Given the description of an element on the screen output the (x, y) to click on. 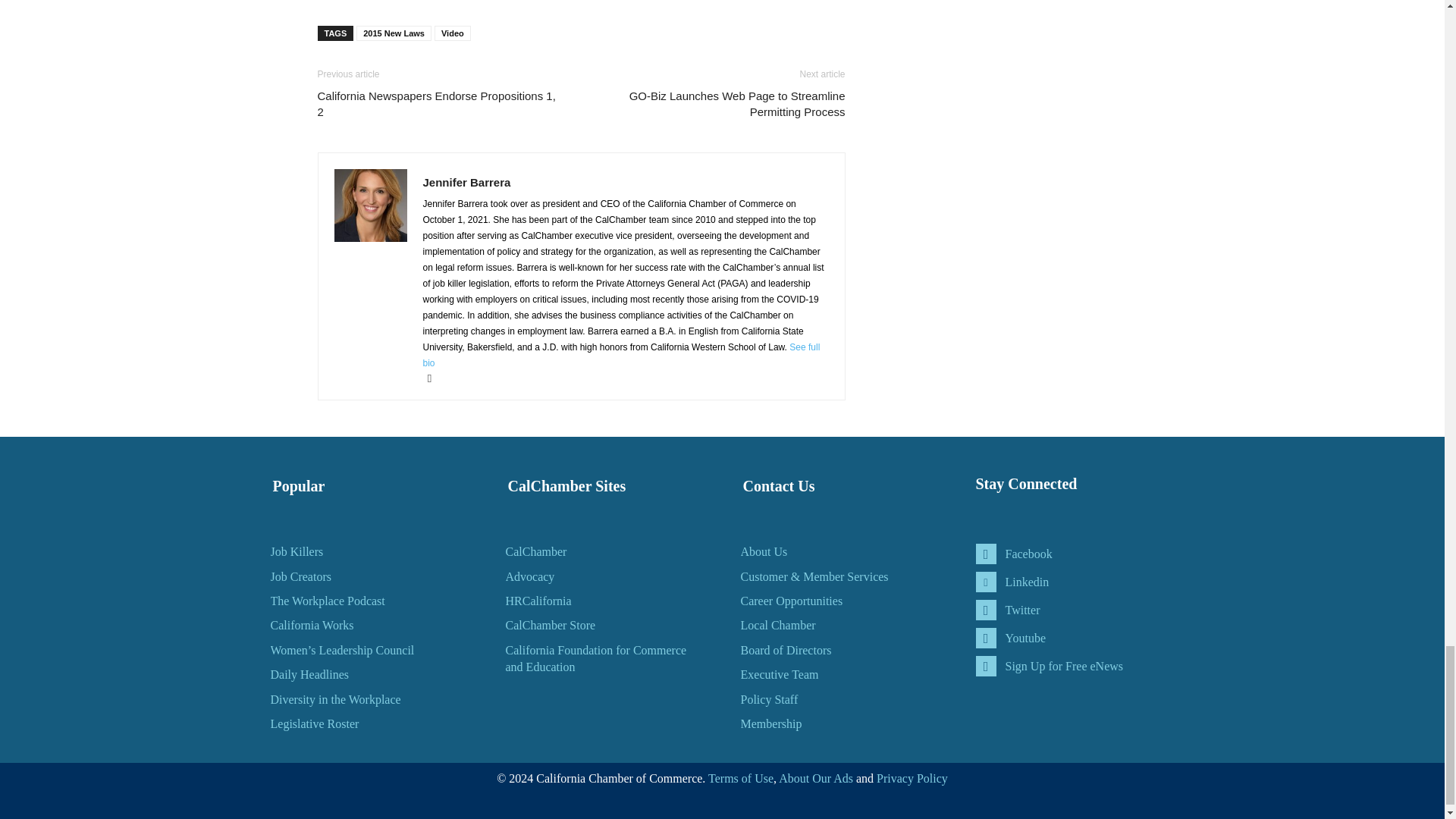
2015 New Laws (393, 32)
California Newspapers Endorse Propositions 1, 2 (439, 103)
GO-Biz Launches Web Page to Streamline Permitting Process (721, 103)
Video (451, 32)
